Given the description of an element on the screen output the (x, y) to click on. 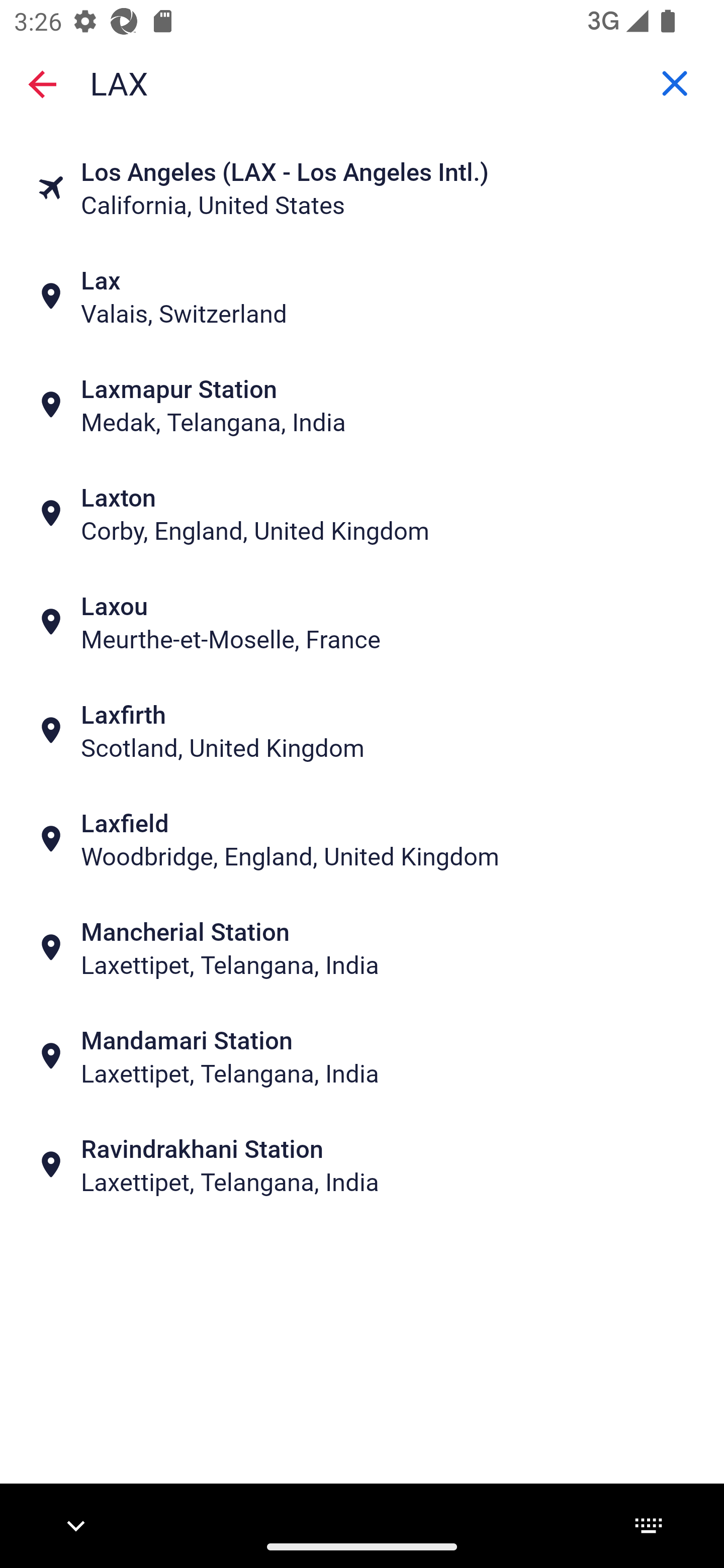
Clear Pick-up (674, 82)
Pick-up, LAX (361, 82)
Close search screen (41, 83)
